Given the description of an element on the screen output the (x, y) to click on. 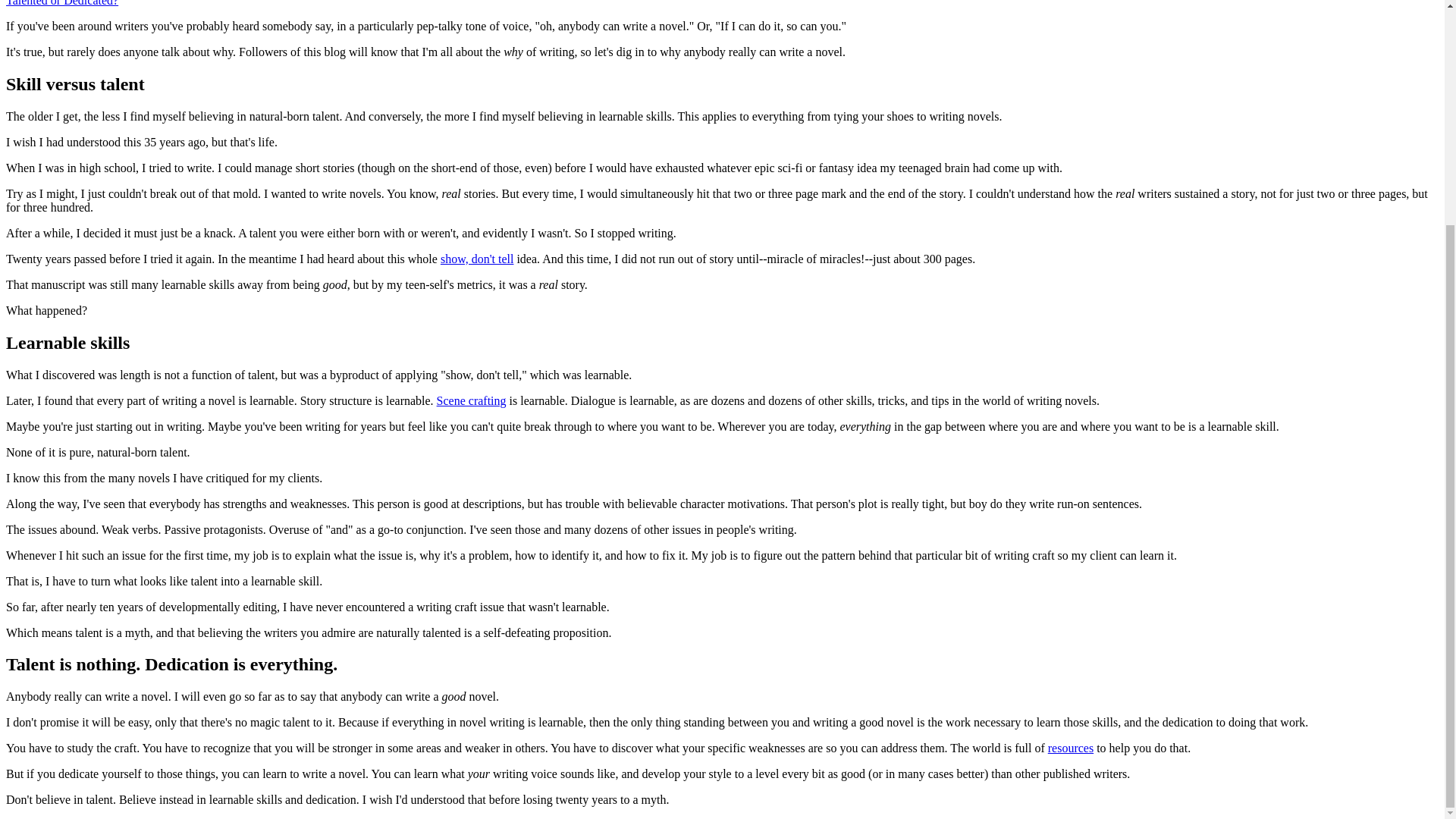
Scene crafting (471, 400)
resources (1070, 748)
Talented or Dedicated? (61, 3)
show, don't tell (477, 258)
